Given the description of an element on the screen output the (x, y) to click on. 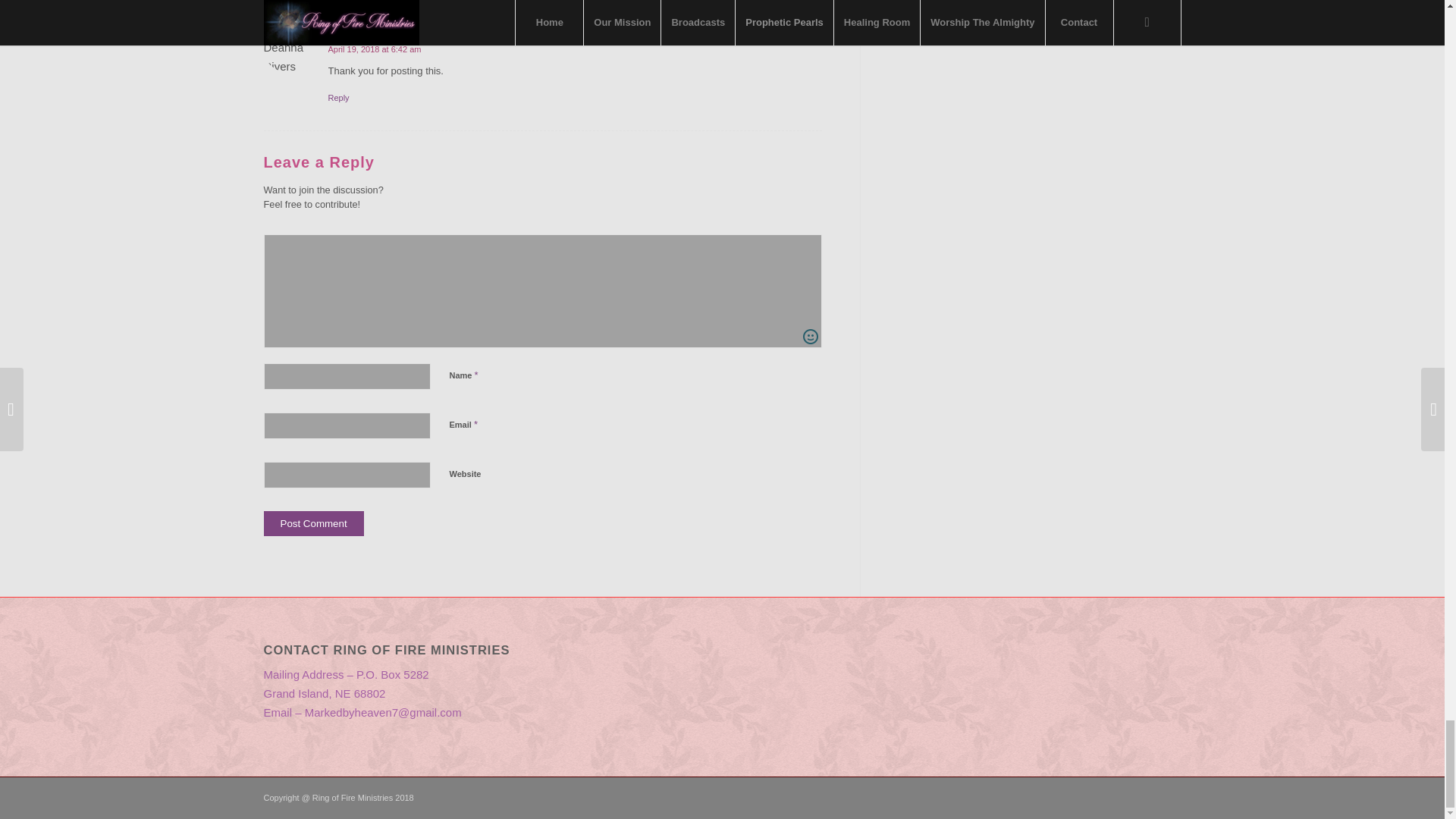
Insert Emoji (810, 336)
April 19, 2018 at 6:42 am (373, 49)
Post Comment (313, 523)
Reply (338, 97)
